Given the description of an element on the screen output the (x, y) to click on. 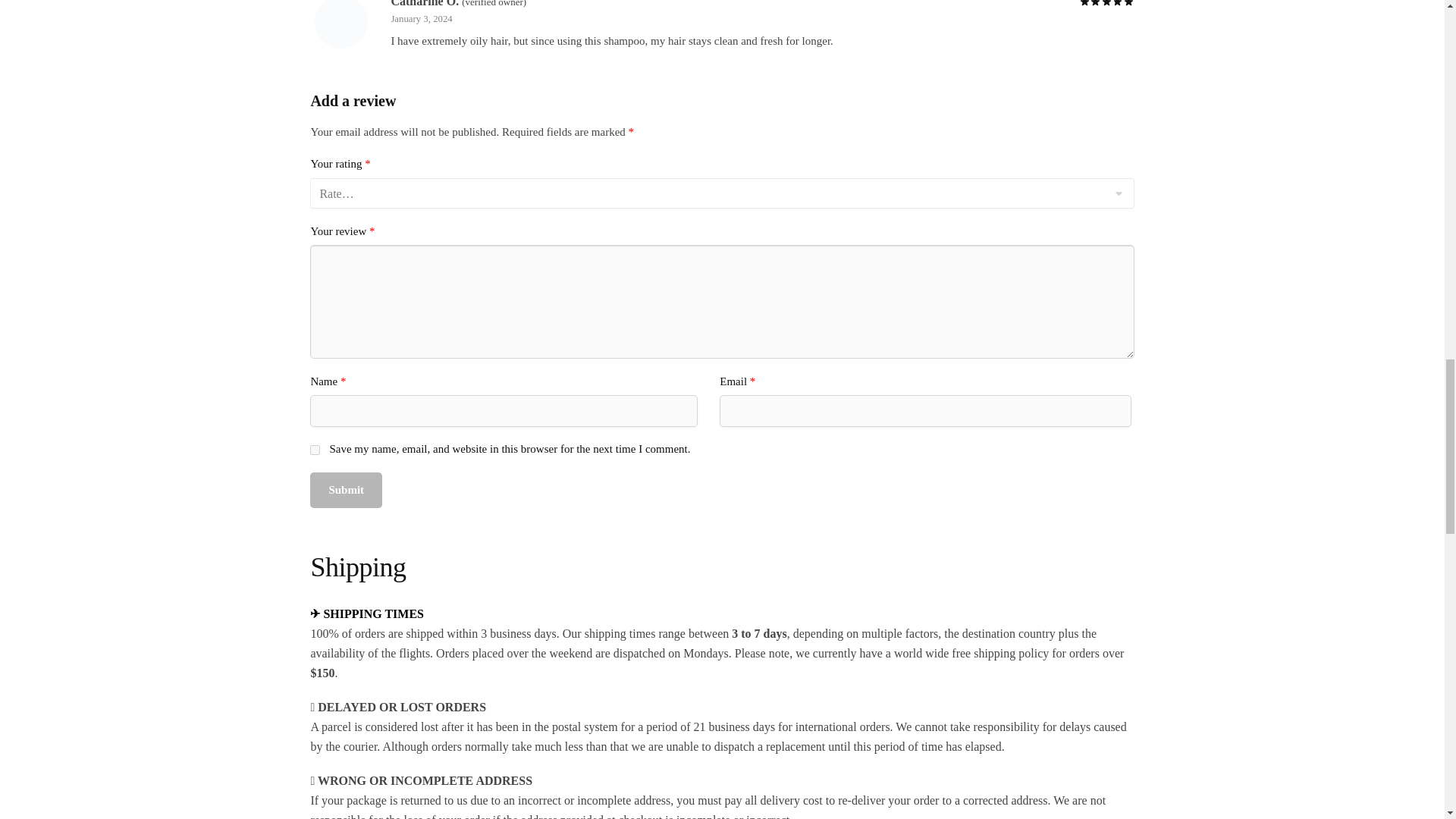
yes (315, 450)
Submit (345, 489)
